Given the description of an element on the screen output the (x, y) to click on. 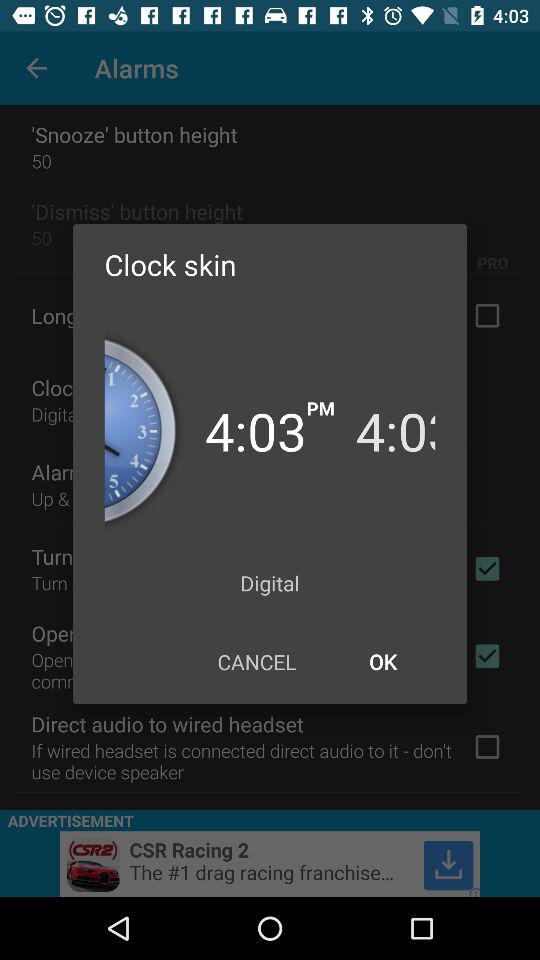
turn off icon below the digital (256, 661)
